Given the description of an element on the screen output the (x, y) to click on. 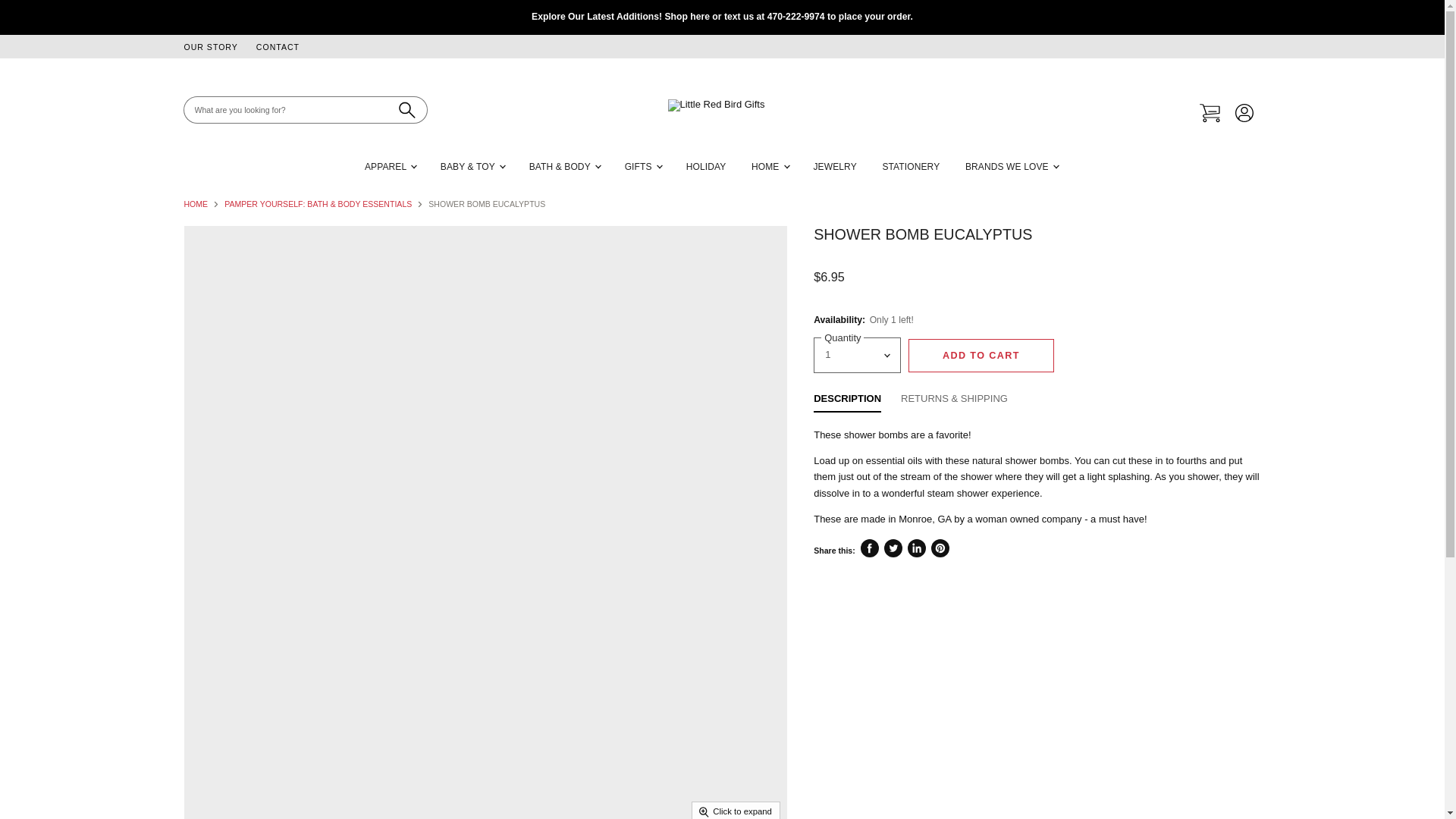
APPAREL (389, 166)
OUR STORY (210, 46)
CONTACT (277, 46)
View account (1243, 113)
View cart (1209, 113)
